Given the description of an element on the screen output the (x, y) to click on. 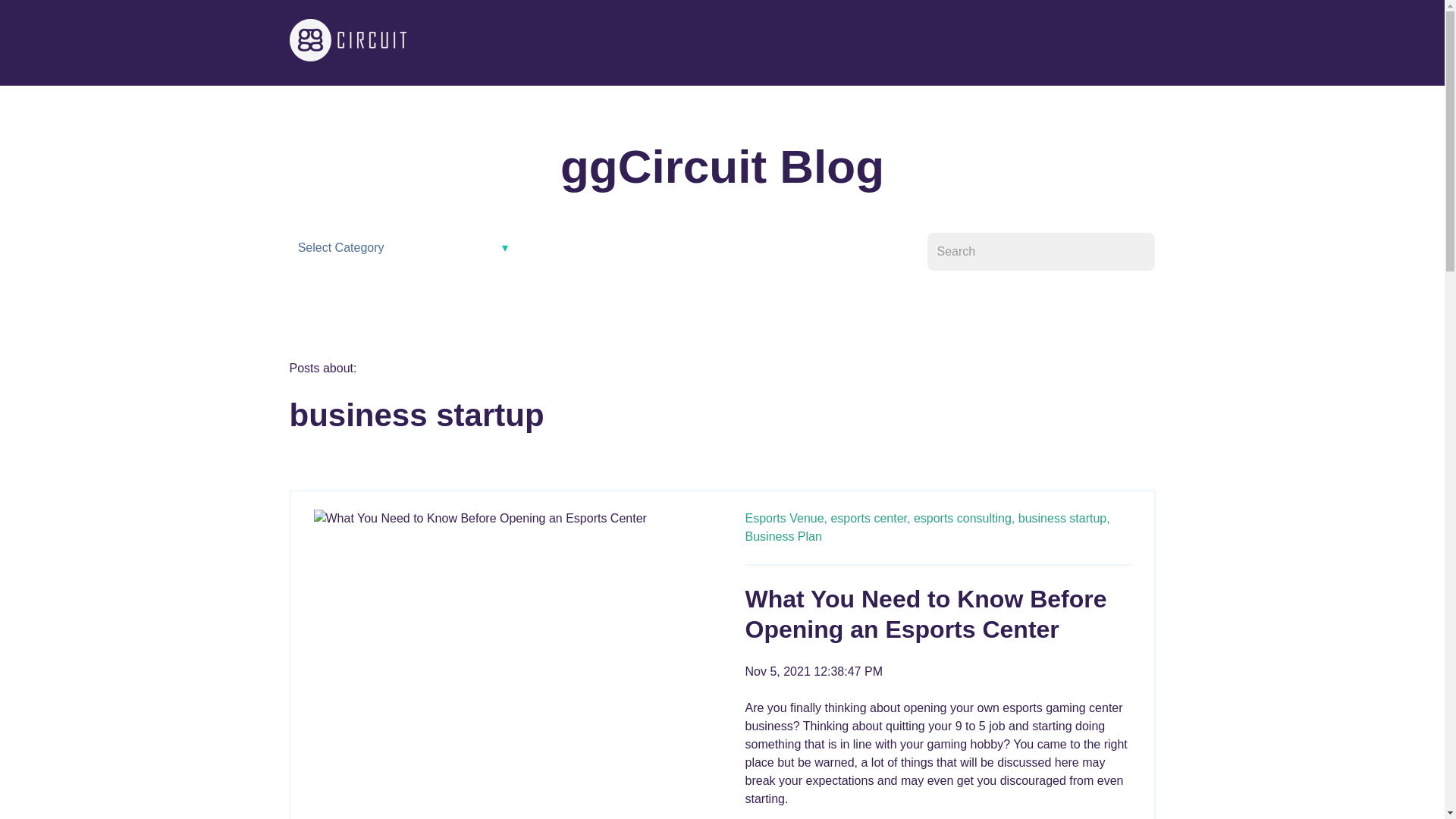
esports consulting, (964, 517)
What You Need to Know Before Opening an Esports Center (925, 613)
business startup, (1063, 517)
Business Plan (782, 535)
Esports Venue, (785, 517)
esports center, (869, 517)
